Given the description of an element on the screen output the (x, y) to click on. 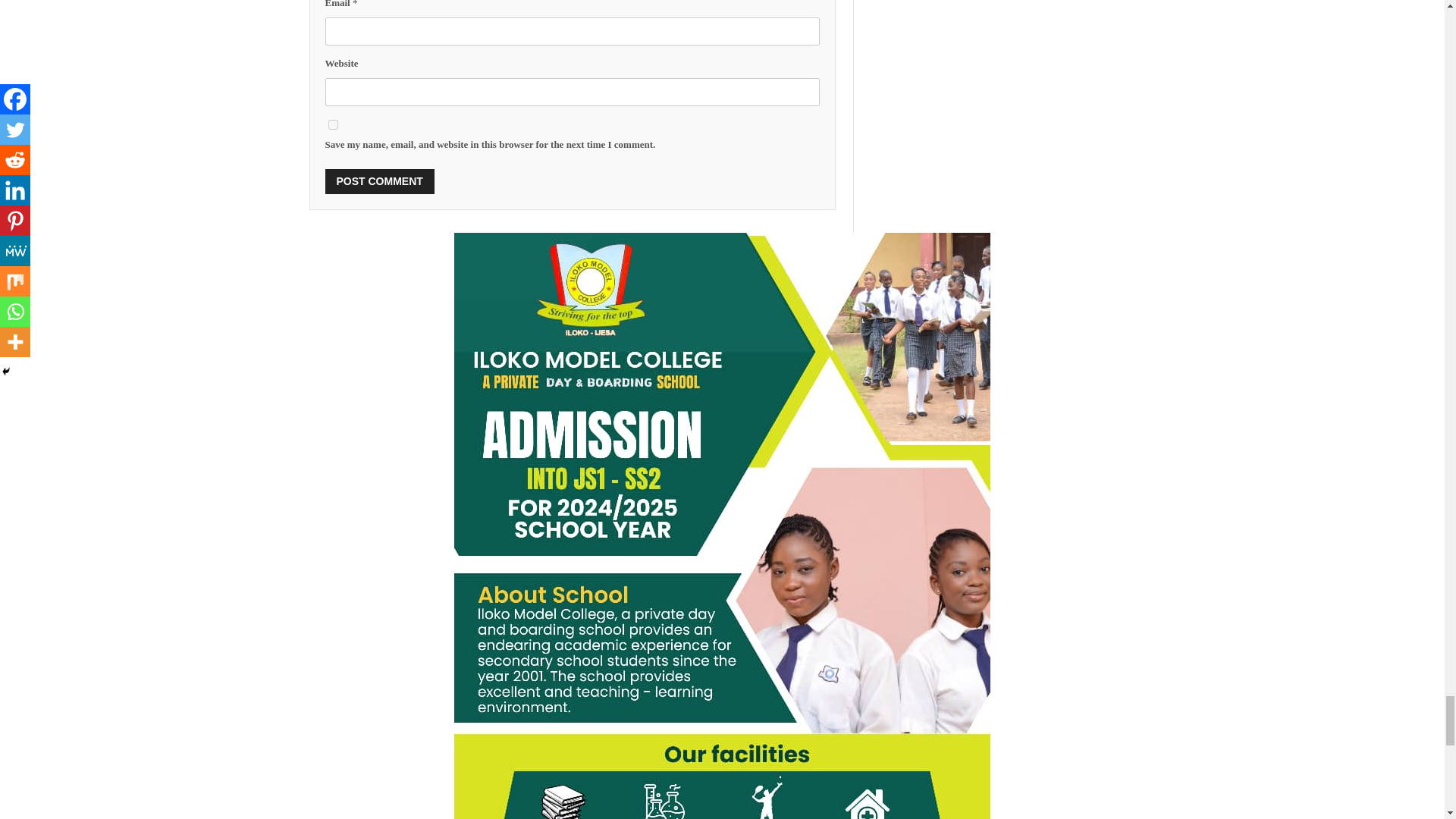
Post Comment (378, 181)
yes (332, 124)
